Given the description of an element on the screen output the (x, y) to click on. 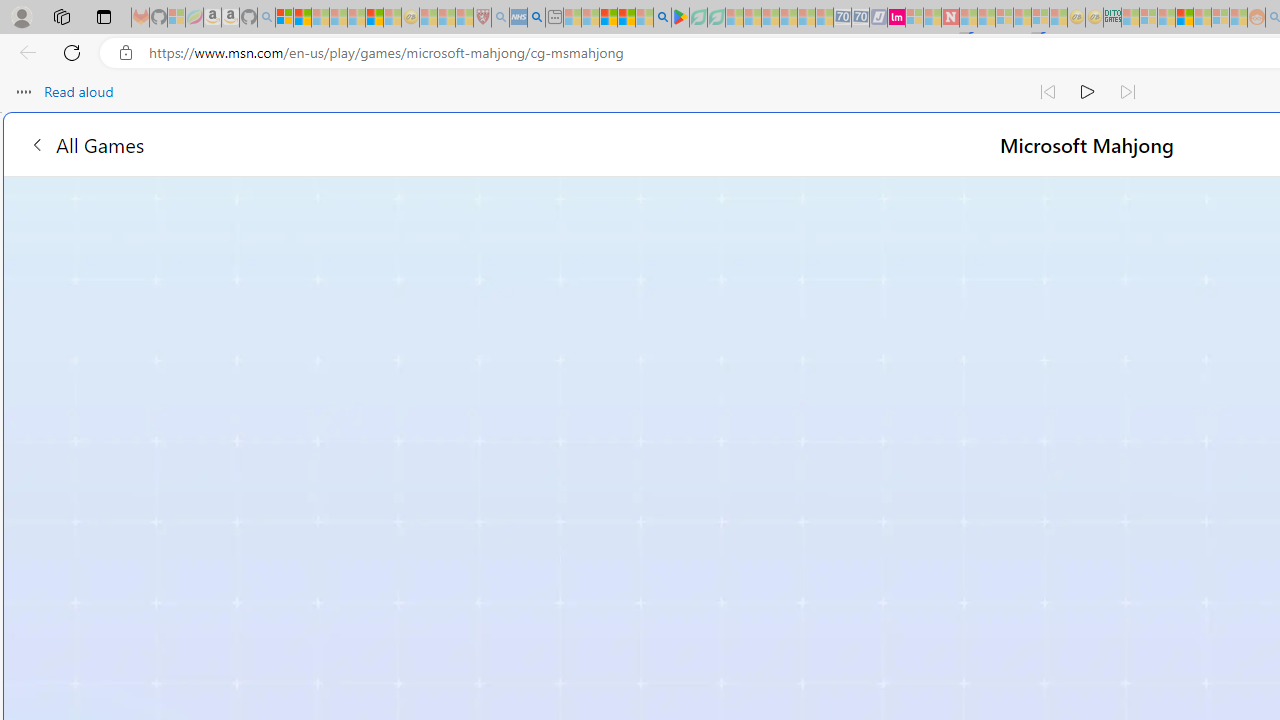
New tab - Sleeping (554, 17)
